Given the description of an element on the screen output the (x, y) to click on. 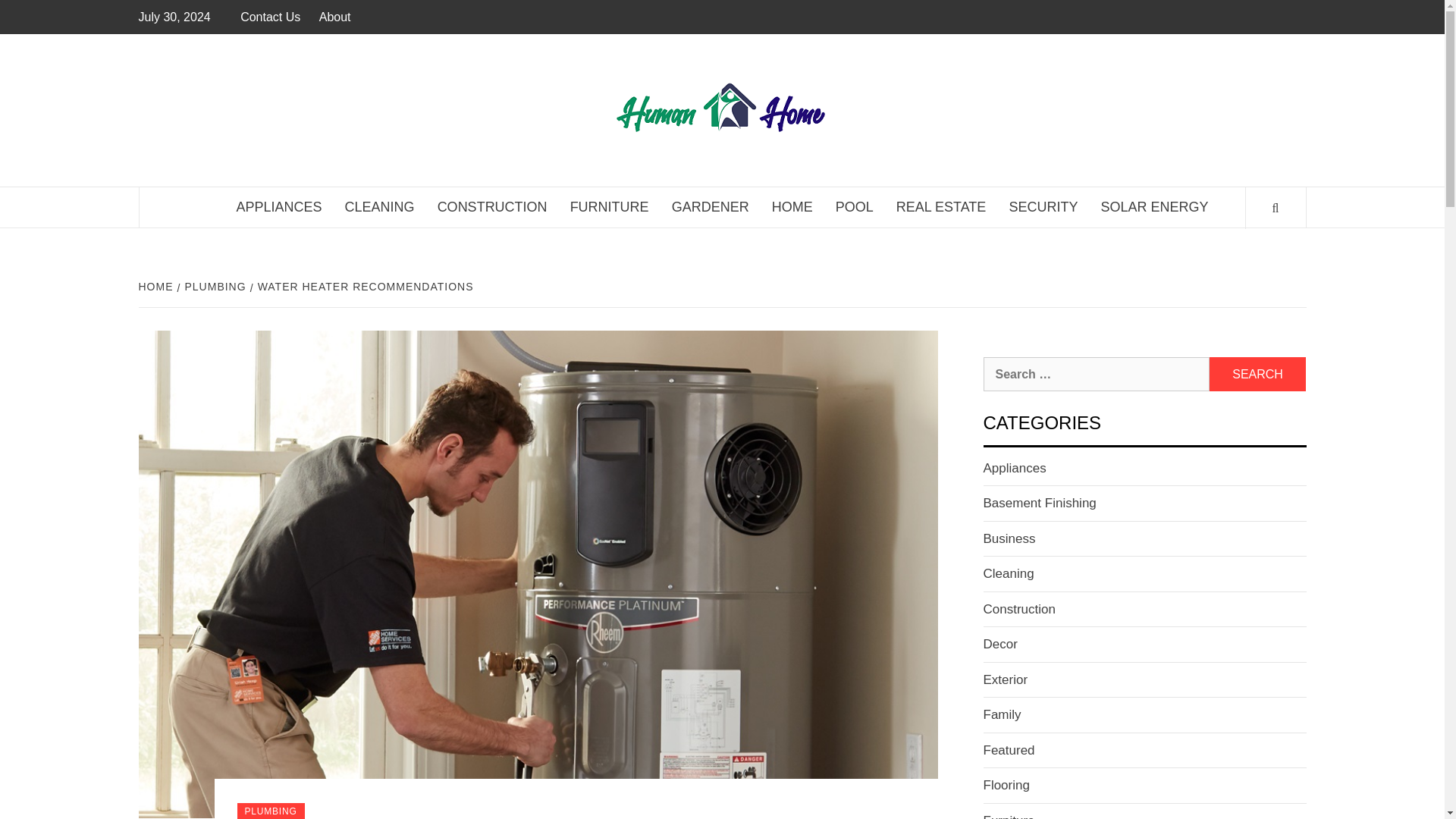
CONSTRUCTION (492, 207)
FURNITURE (610, 207)
Contact Us (273, 17)
SOLAR ENERGY (1154, 207)
About (334, 17)
SECURITY (1043, 207)
Search (1257, 374)
PLUMBING (213, 286)
CLEANING (379, 207)
Search (1257, 374)
GARDENER (710, 207)
HOME (792, 207)
POOL (854, 207)
HOME (157, 286)
WATER HEATER RECOMMENDATIONS (363, 286)
